Given the description of an element on the screen output the (x, y) to click on. 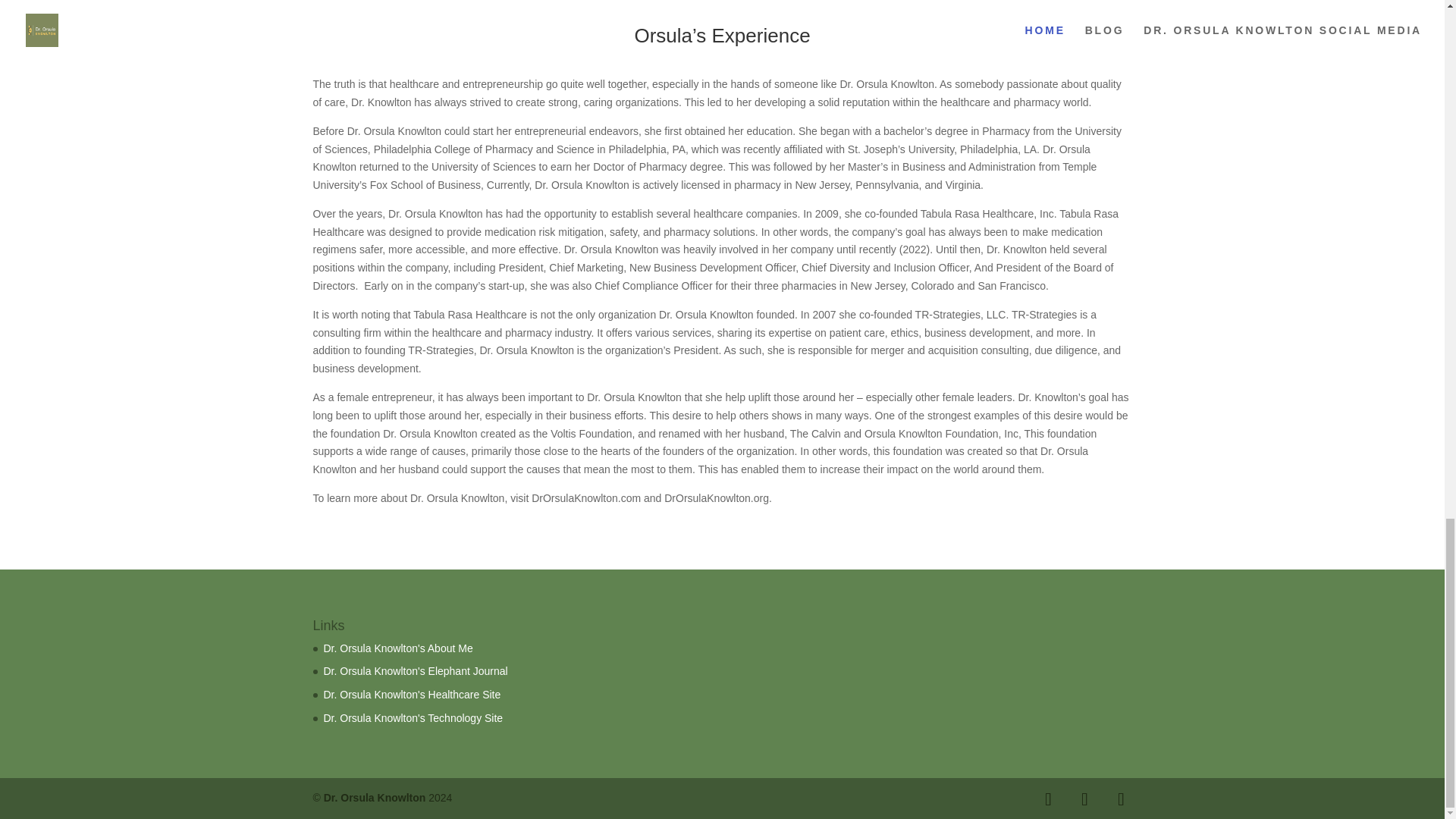
Dr. Orsula Knowlton's Technology Site (412, 717)
Dr. Orsula Knowlton's Healthcare Site (411, 694)
Dr. Orsula Knowlton's Elephant Journal (414, 671)
Dr. Orsula Knowlton's About Me (397, 648)
Dr. Orsula Knowlton (374, 797)
